Given the description of an element on the screen output the (x, y) to click on. 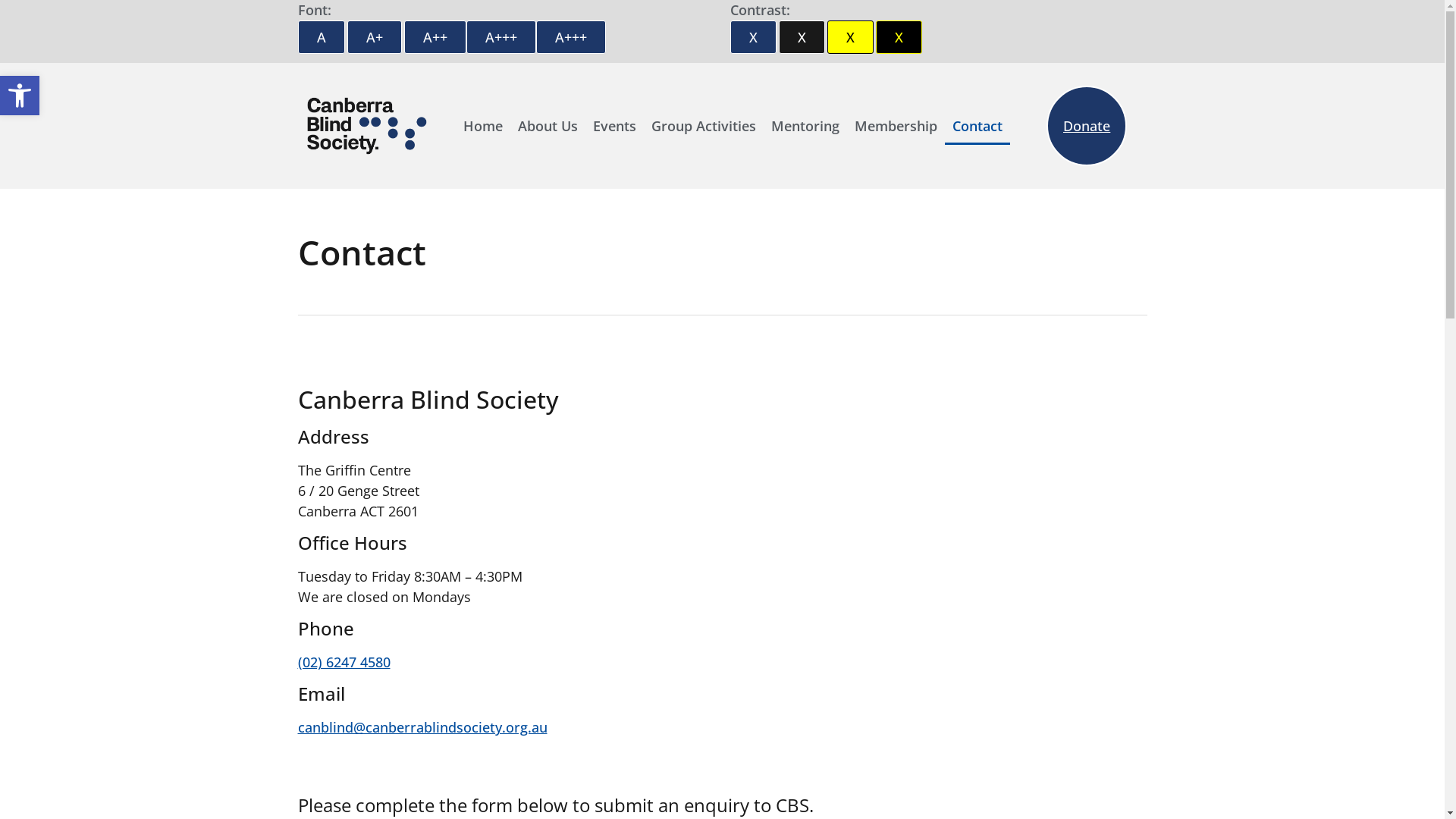
Group Activities Element type: text (703, 125)
Open toolbar
Accessibility Tools Element type: text (19, 95)
Mentoring Element type: text (805, 125)
Events Element type: text (614, 125)
A++ Element type: text (434, 36)
A Element type: text (320, 36)
A+++ Element type: text (500, 36)
Contact Element type: text (977, 125)
X Element type: text (849, 36)
About Us Element type: text (547, 125)
X Element type: text (752, 36)
X Element type: text (898, 36)
Donate Element type: text (1086, 125)
Membership Element type: text (895, 125)
A+ Element type: text (374, 36)
Home Element type: text (482, 125)
canblind@canberrablindsociety.org.au Element type: text (421, 727)
(02) 6247 4580 Element type: text (343, 661)
X Element type: text (801, 36)
A+++ Element type: text (570, 36)
